Given the description of an element on the screen output the (x, y) to click on. 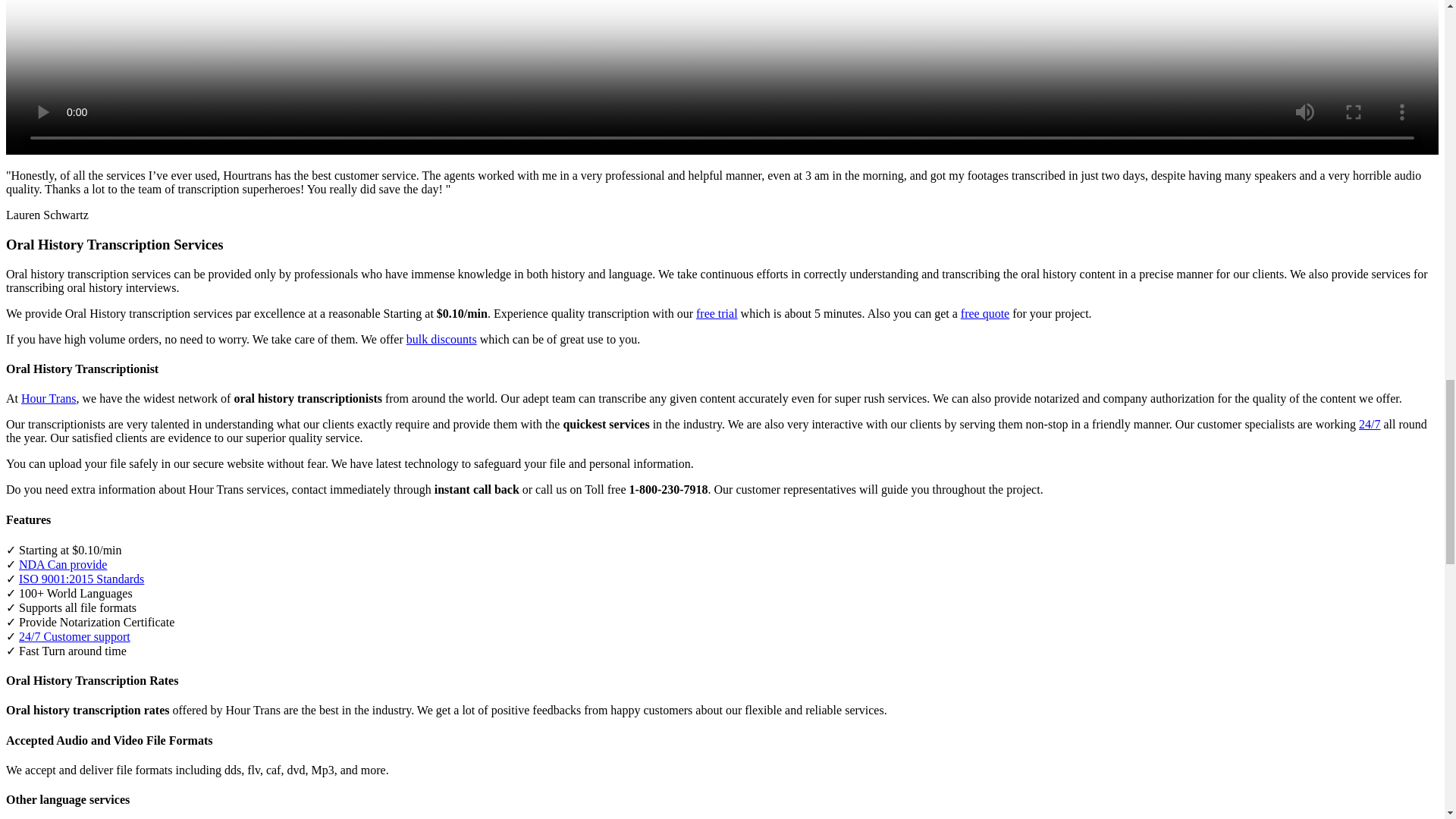
ISO 9001:2015 Standards (81, 578)
free quote (984, 313)
bulk discounts (441, 338)
NDA Can provide (62, 563)
free trial (716, 313)
Hour Trans (48, 398)
